Given the description of an element on the screen output the (x, y) to click on. 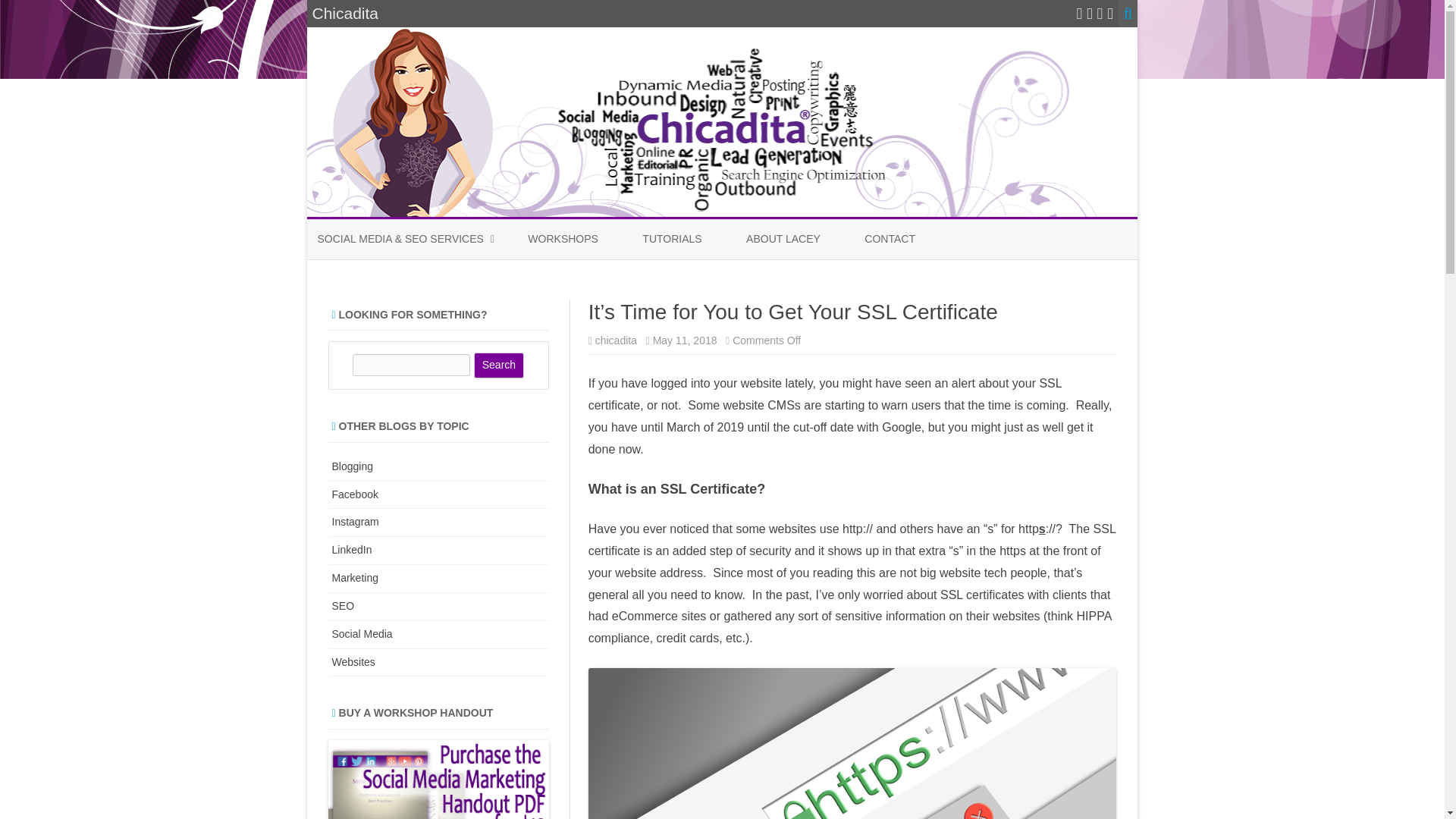
TUTORIALS (671, 239)
SOCIAL MEDIA CONTENT CALENDAR (392, 283)
WORKSHOPS (562, 239)
Search (499, 365)
